Given the description of an element on the screen output the (x, y) to click on. 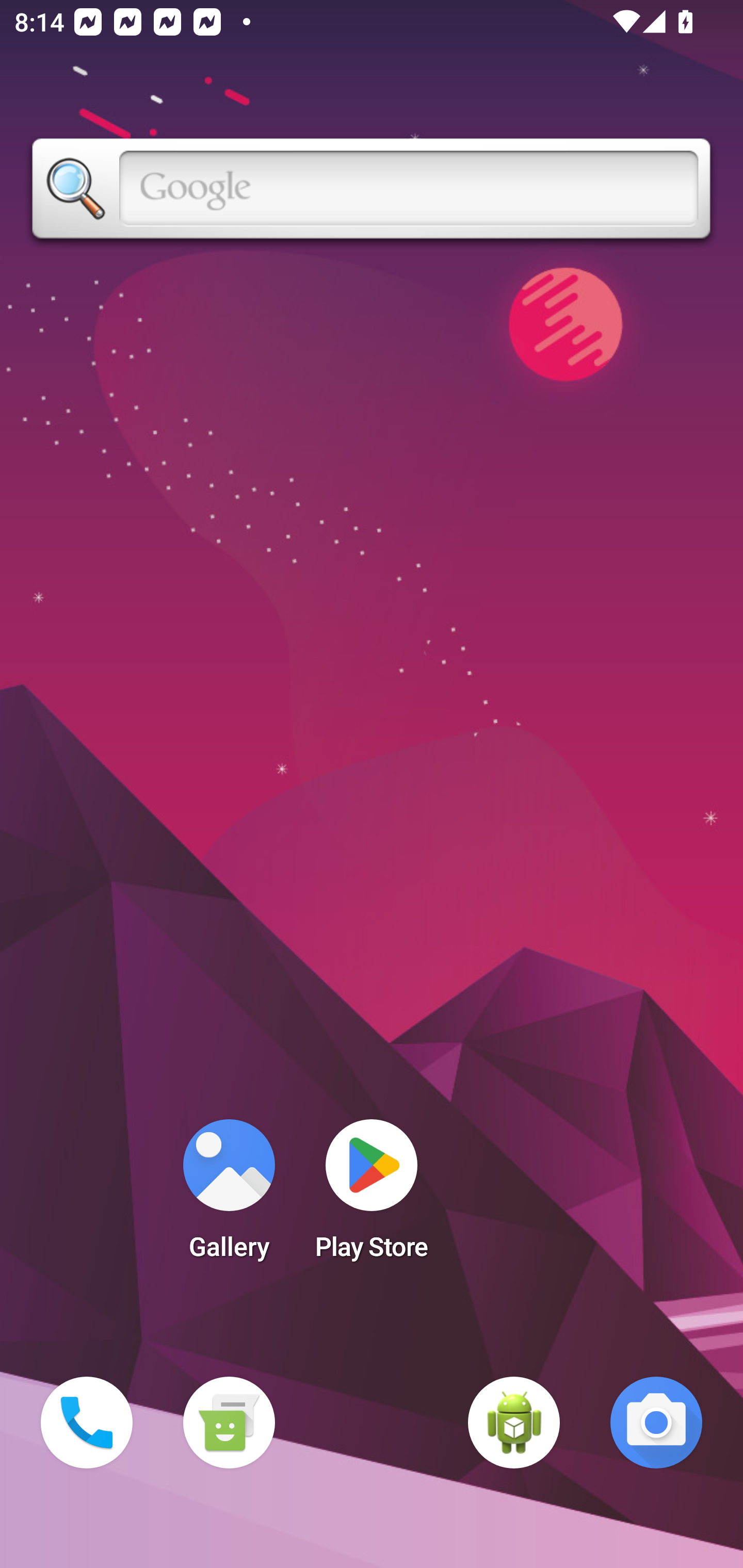
Gallery (228, 1195)
Play Store (371, 1195)
Phone (86, 1422)
Messaging (228, 1422)
WebView Browser Tester (513, 1422)
Camera (656, 1422)
